Given the description of an element on the screen output the (x, y) to click on. 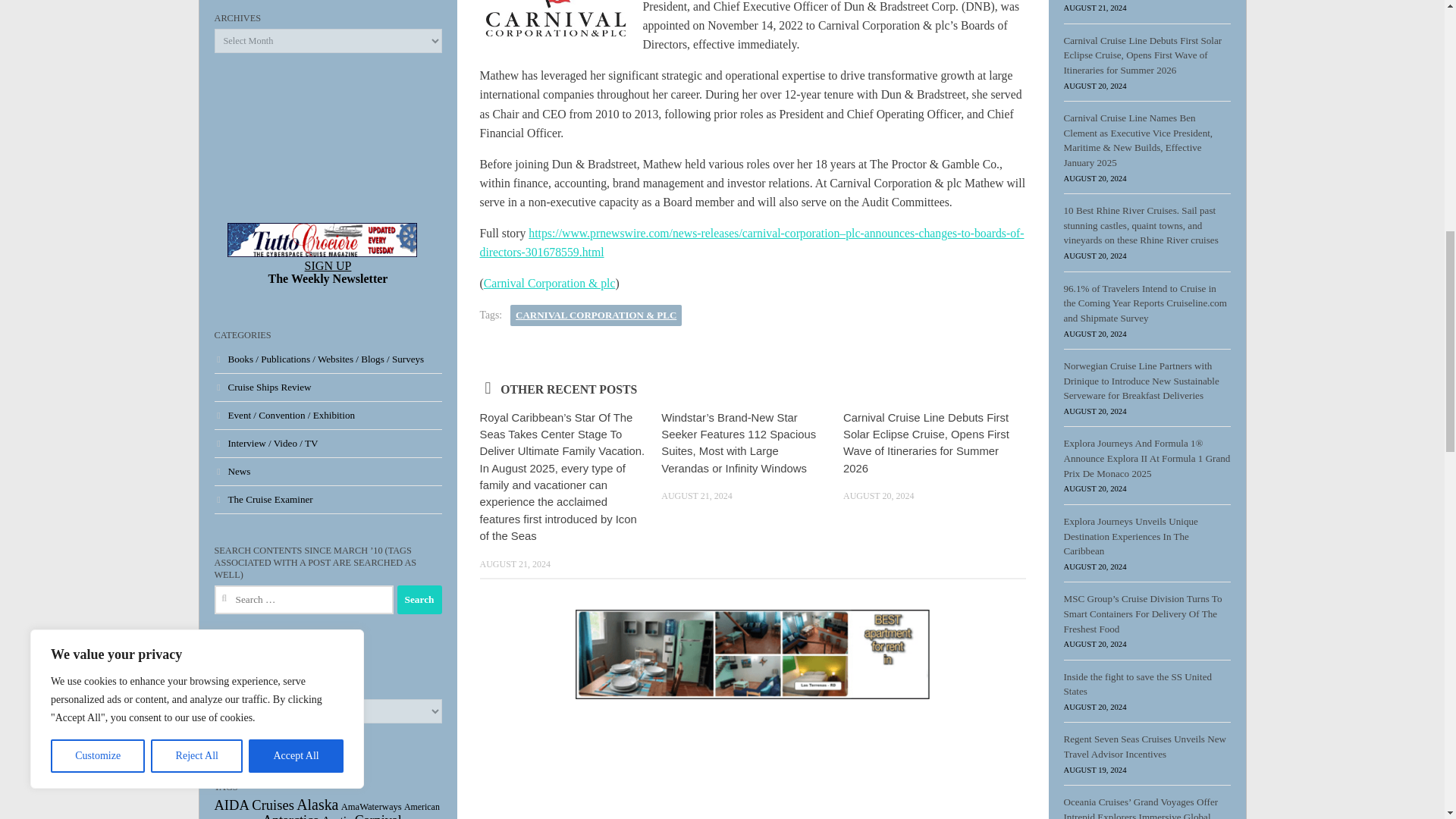
Search (419, 599)
Go (226, 731)
Search (419, 599)
